Given the description of an element on the screen output the (x, y) to click on. 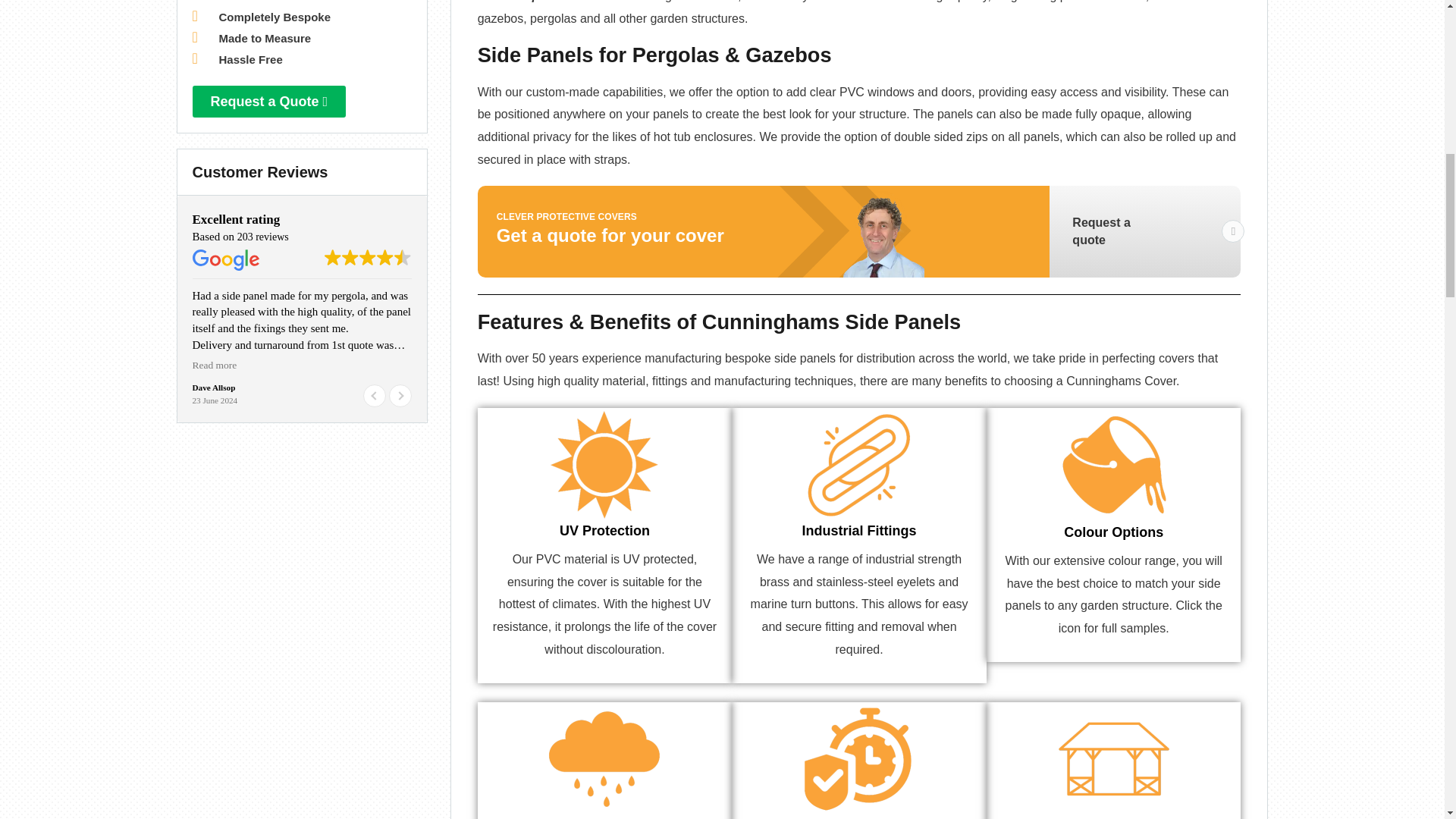
Industrial Fittings Icon (858, 464)
Colour Options Icon (1113, 464)
Durability Icon (858, 758)
UV Protection Icon (604, 464)
Versatility Icon (1113, 758)
Waterproof Icon (604, 758)
